Given the description of an element on the screen output the (x, y) to click on. 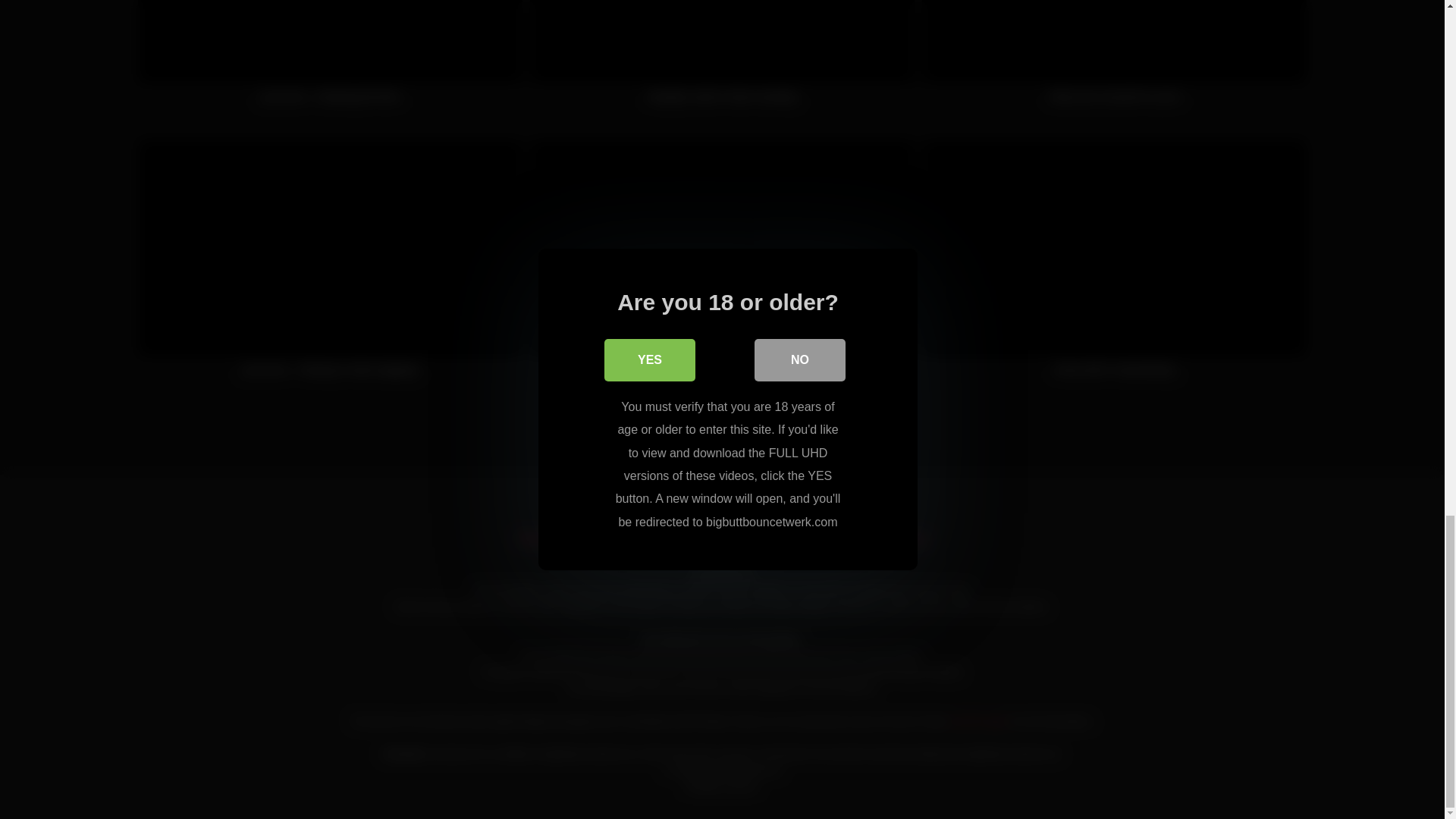
Naughty maid in sheer stocking (721, 59)
Shiny Ass Covered In Lycra (1113, 59)
read this page (978, 720)
Privacy Policy (615, 538)
Shiny Ass Covered In Lycra (1113, 59)
Horny MILF masturbating (1113, 266)
Sexy White Lycra Ass Video (721, 266)
Sexy White Lycra Ass Video (721, 266)
Home (534, 538)
Terms and Conditions (740, 538)
2257 (840, 538)
Horny MILF masturbating (1113, 266)
Sitemap (903, 538)
Naughty maid in sheer stocking (721, 59)
